Given the description of an element on the screen output the (x, y) to click on. 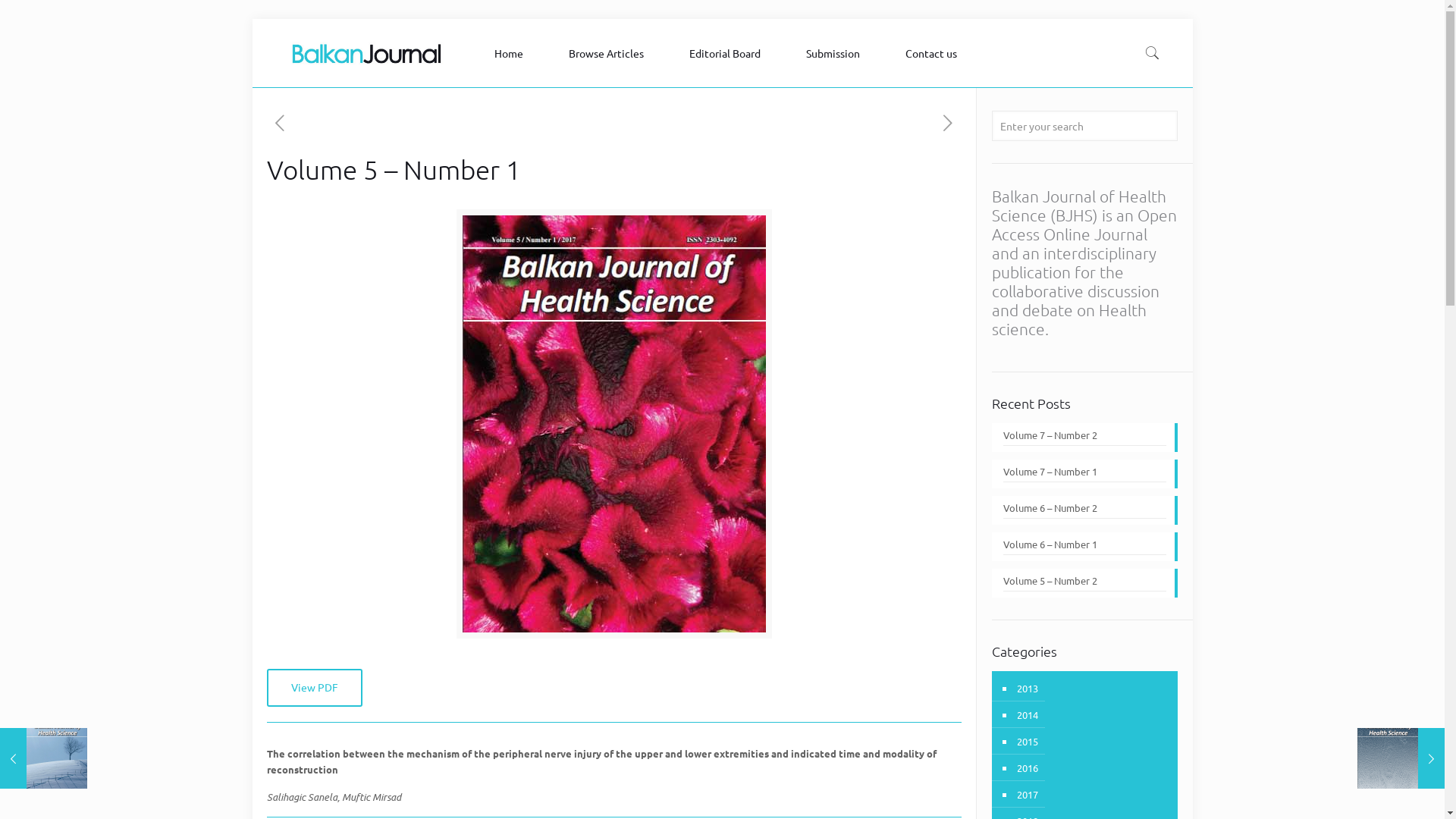
2015 Element type: text (1026, 741)
Contact us Element type: text (934, 52)
2013 Element type: text (1026, 687)
Submission Element type: text (836, 52)
Editorial Board Element type: text (728, 52)
2017 Element type: text (1026, 794)
Home Element type: text (512, 52)
Browse Articles Element type: text (609, 52)
View PDF Element type: text (314, 687)
2014 Element type: text (1026, 714)
2016 Element type: text (1026, 767)
